Given the description of an element on the screen output the (x, y) to click on. 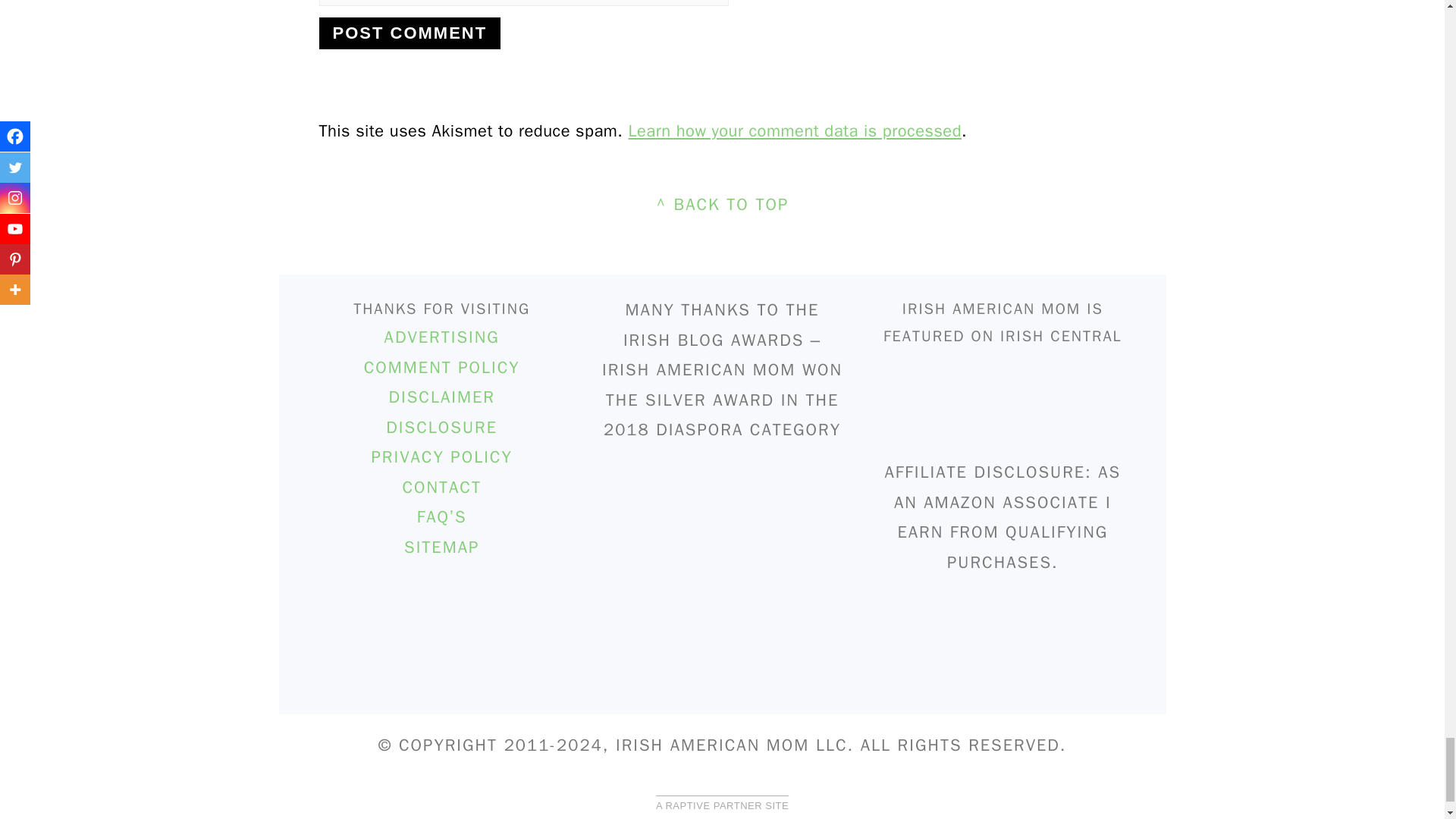
Post Comment (409, 33)
